Given the description of an element on the screen output the (x, y) to click on. 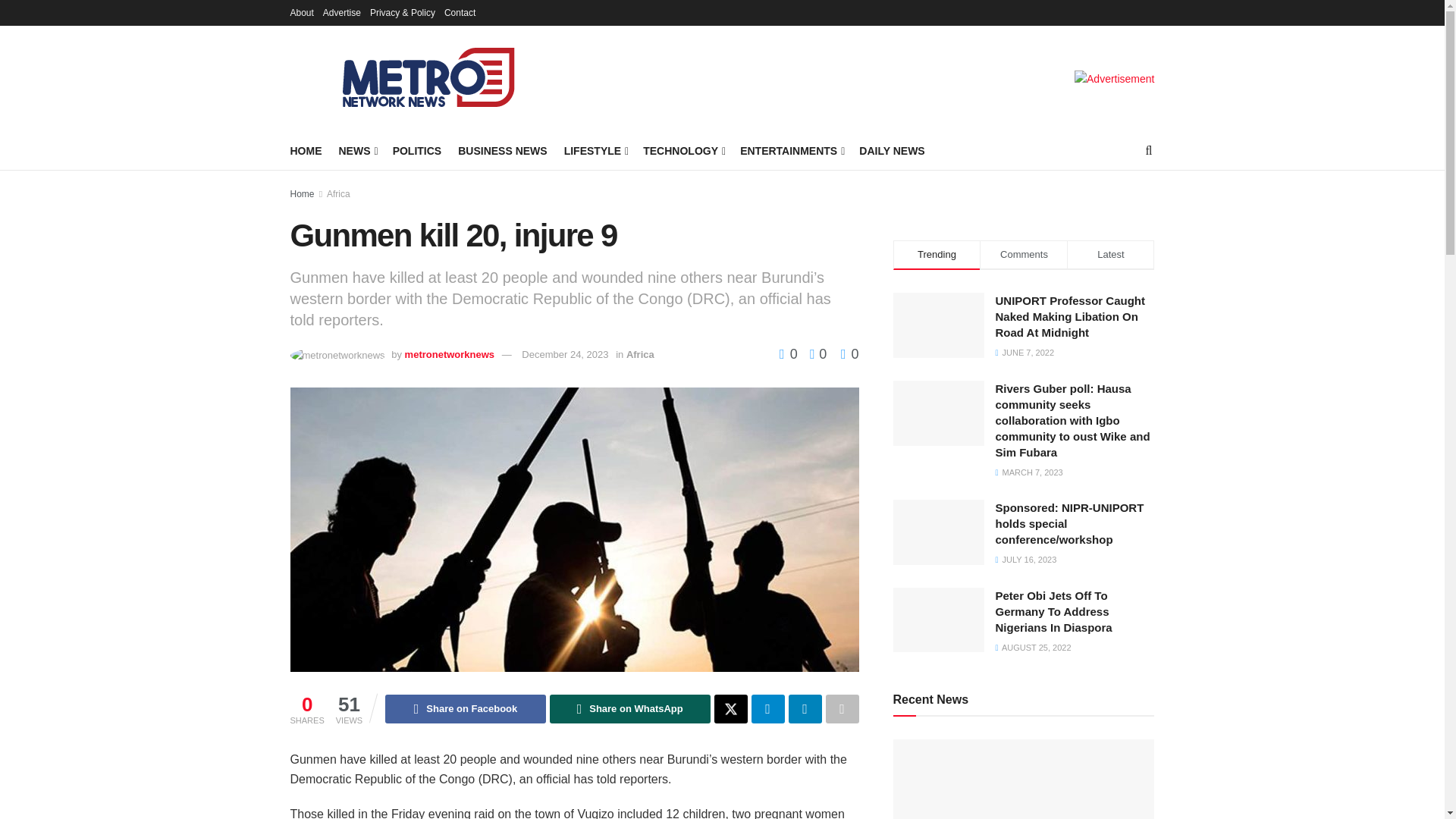
HOME (305, 150)
Advertise (342, 12)
LIFESTYLE (595, 150)
DAILY NEWS (891, 150)
NEWS (356, 150)
ENTERTAINMENTS (791, 150)
Africa (639, 354)
POLITICS (417, 150)
BUSINESS NEWS (502, 150)
0 (850, 353)
